Given the description of an element on the screen output the (x, y) to click on. 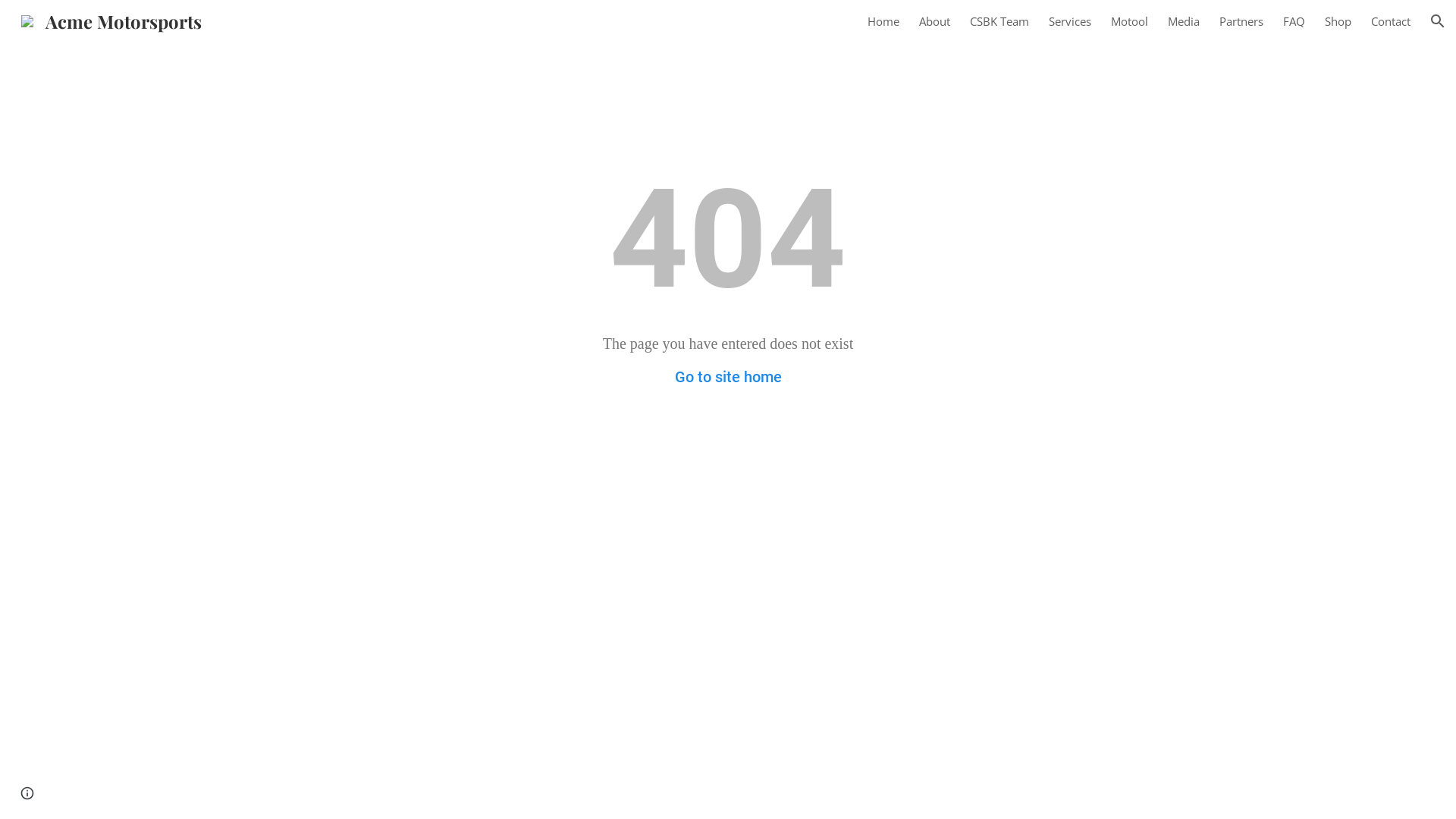
Contact Element type: text (1390, 20)
Home Element type: text (883, 20)
Acme Motorsports Element type: text (111, 18)
Services Element type: text (1069, 20)
About Element type: text (934, 20)
FAQ Element type: text (1294, 20)
Motool Element type: text (1129, 20)
Go to site home Element type: text (727, 376)
Media Element type: text (1183, 20)
Shop Element type: text (1337, 20)
CSBK Team Element type: text (999, 20)
Partners Element type: text (1241, 20)
